Given the description of an element on the screen output the (x, y) to click on. 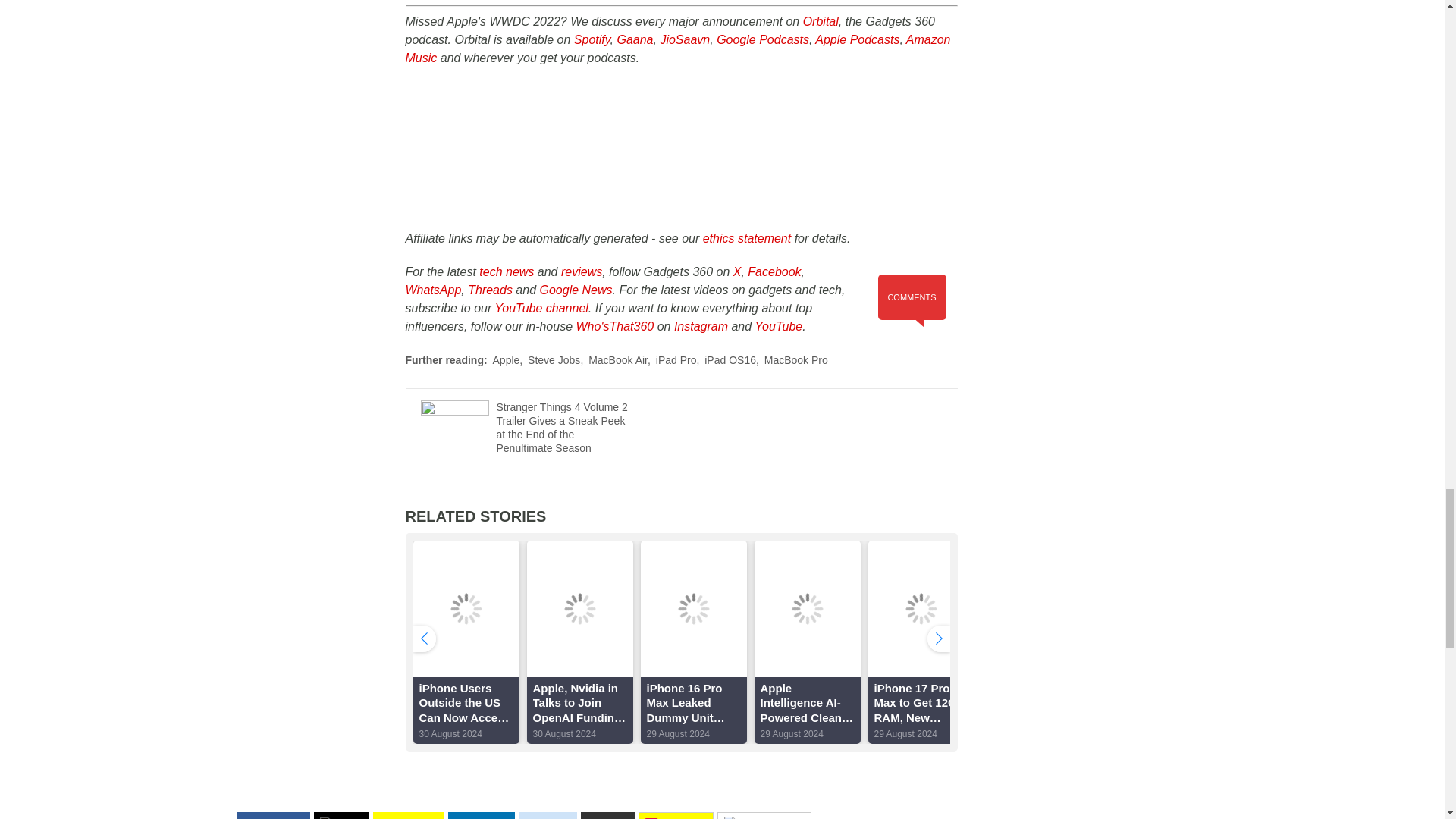
JioSaavn (684, 39)
ethics statement (747, 237)
YouTube channel (541, 308)
tech news (506, 271)
YouTube (778, 326)
Amazon Music (677, 48)
Apple (506, 358)
Spotify (591, 39)
Instagram (701, 326)
